Given the description of an element on the screen output the (x, y) to click on. 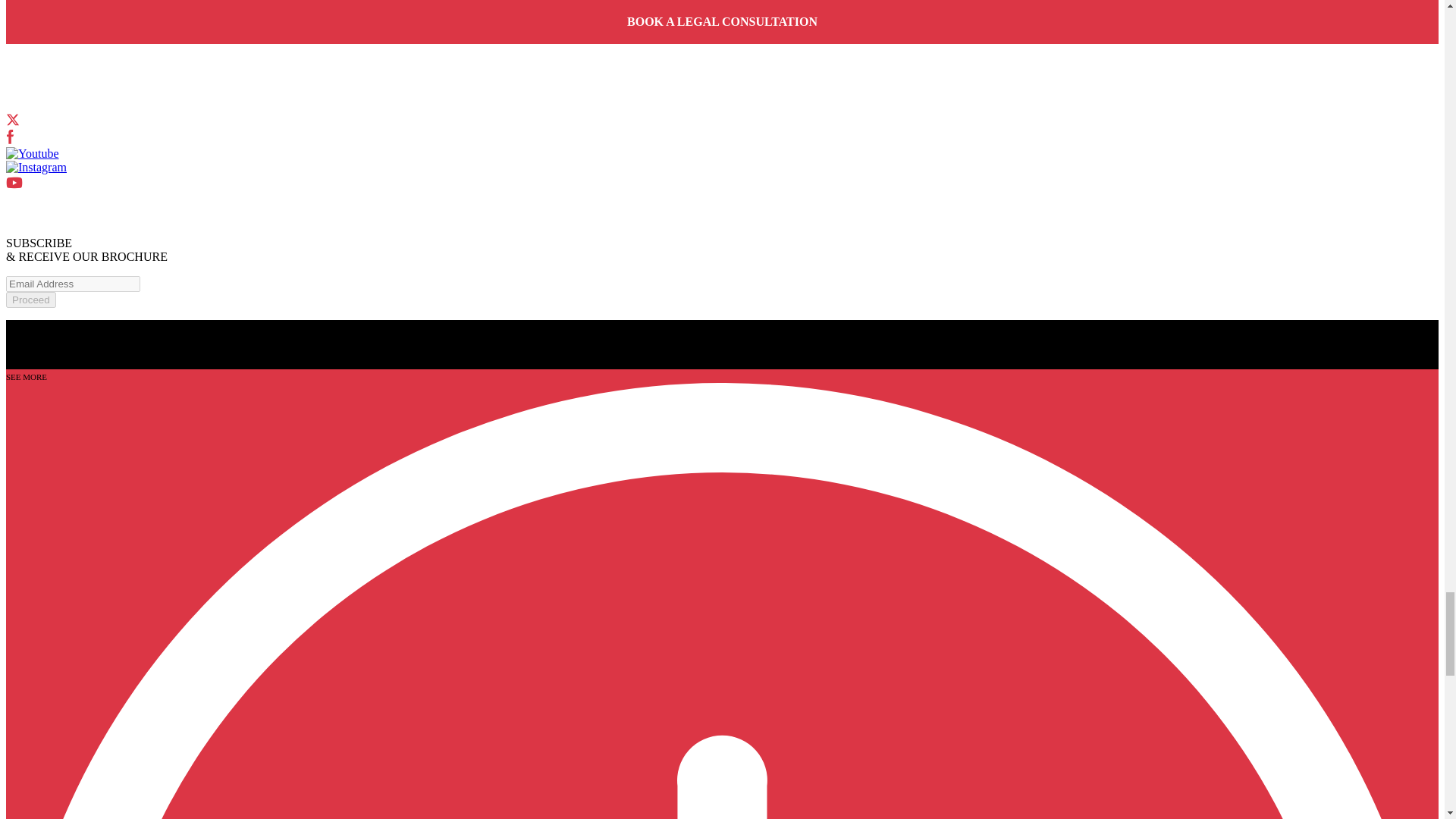
Proceed (30, 299)
